Given the description of an element on the screen output the (x, y) to click on. 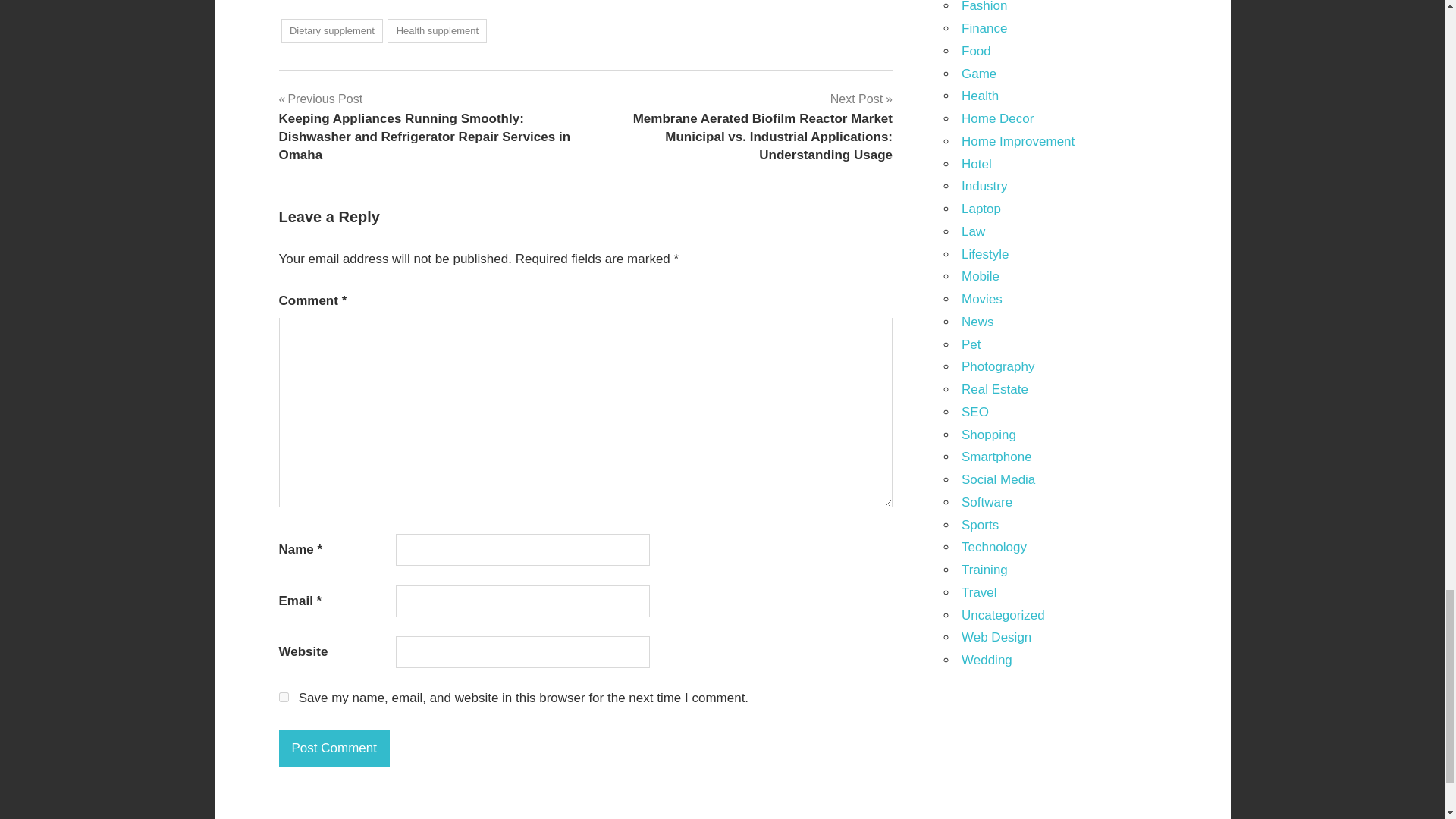
Health supplement (436, 31)
Dietary supplement (331, 31)
Post Comment (334, 748)
yes (283, 696)
Post Comment (334, 748)
